Given the description of an element on the screen output the (x, y) to click on. 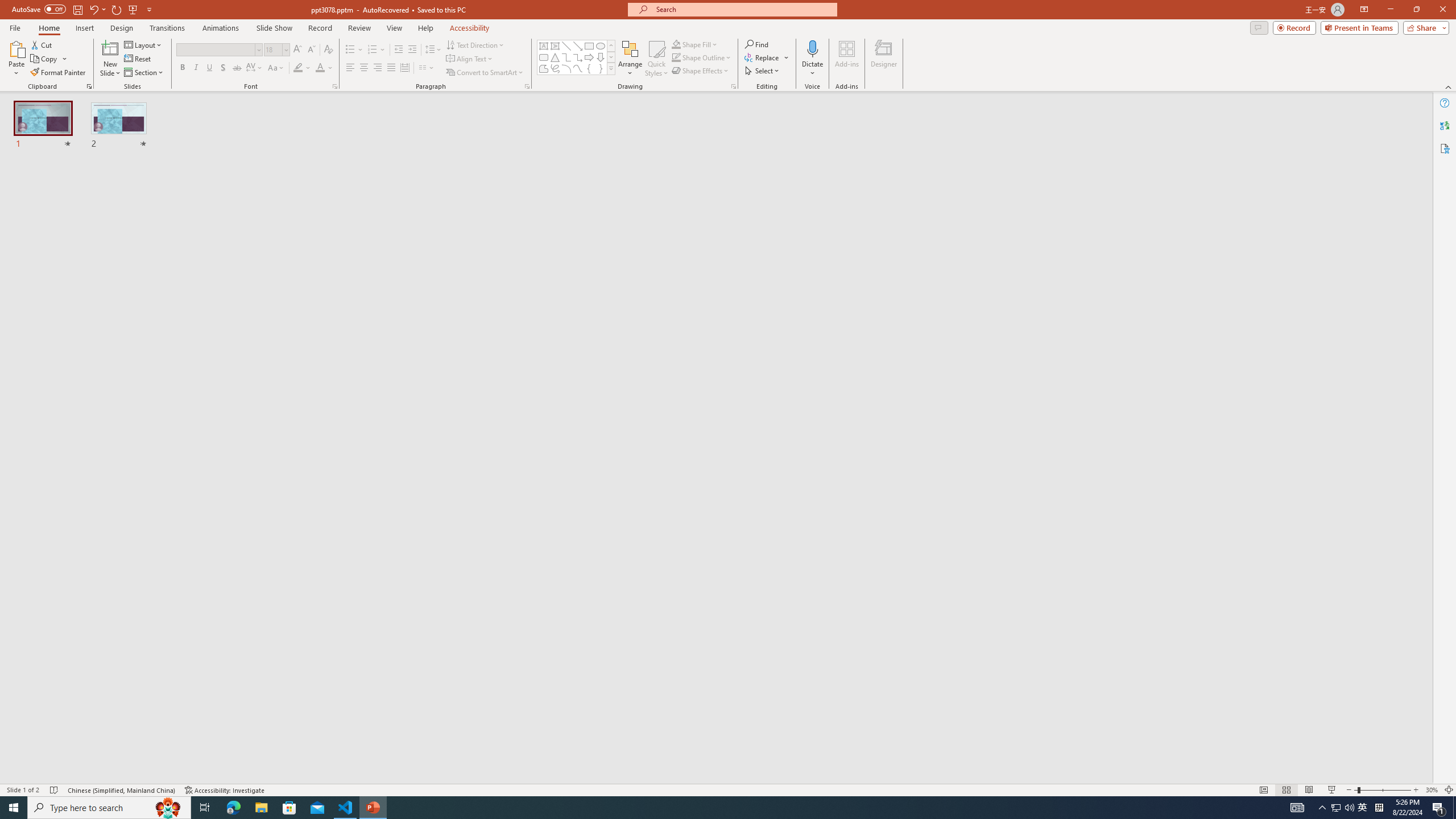
Zoom 30% (1431, 790)
